Given the description of an element on the screen output the (x, y) to click on. 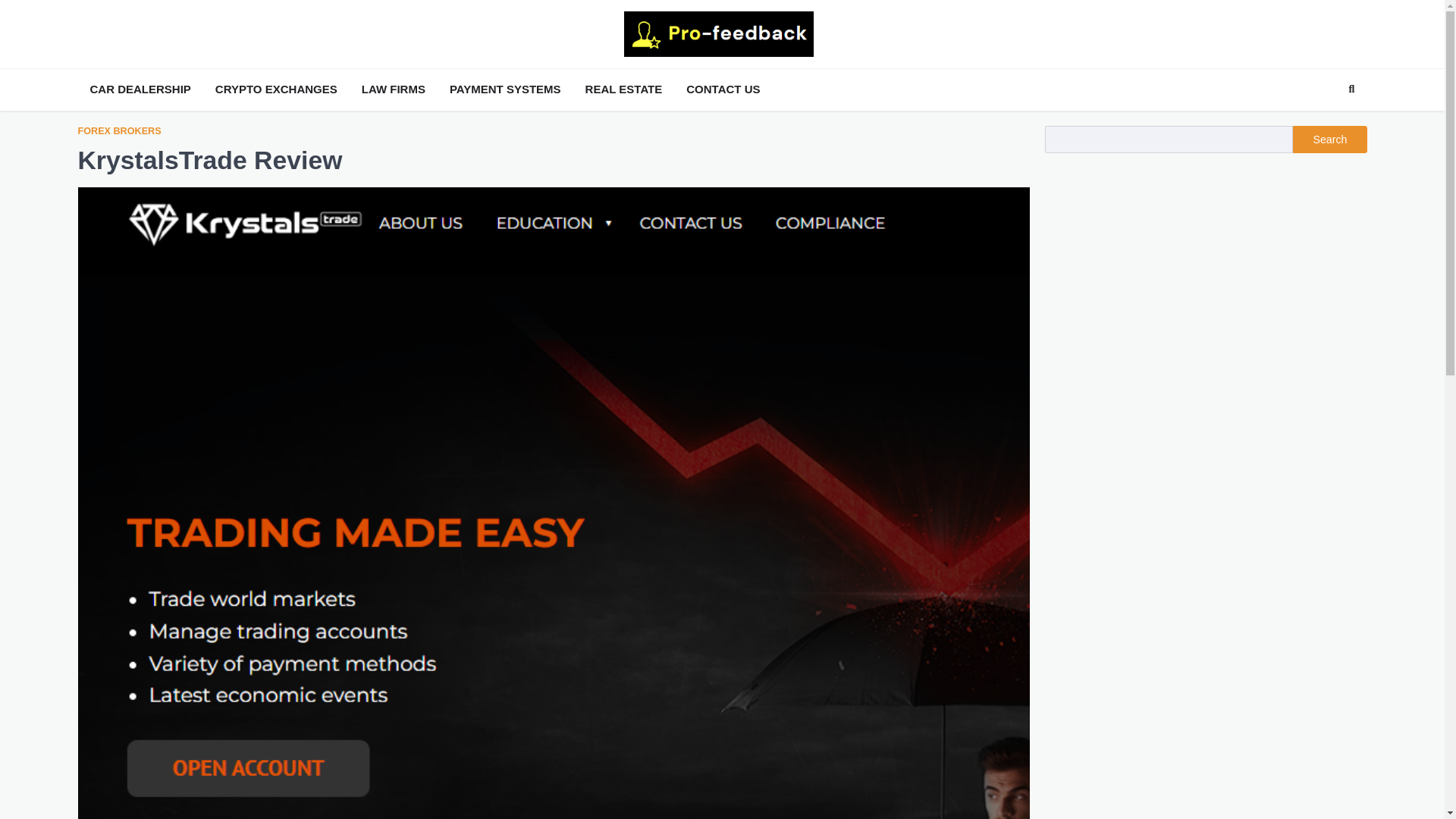
LAW FIRMS (392, 89)
CONTACT US (722, 89)
CAR DEALERSHIP (139, 89)
Search (1329, 139)
Search (1351, 88)
FOREX BROKERS (118, 131)
CRYPTO EXCHANGES (276, 89)
REAL ESTATE (623, 89)
PAYMENT SYSTEMS (505, 89)
Search (1323, 124)
